Given the description of an element on the screen output the (x, y) to click on. 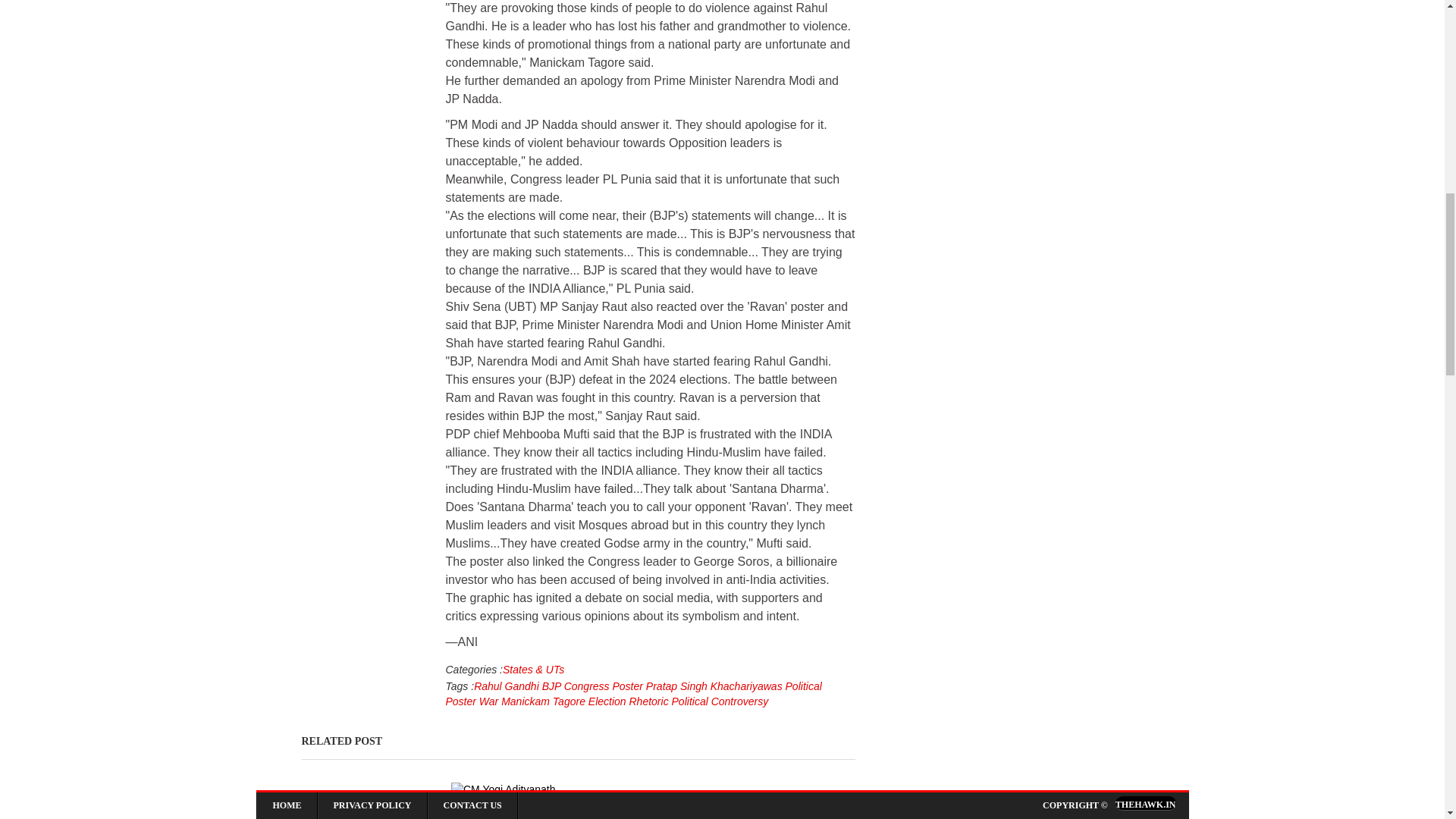
Agniveers will be given weightage in UP police and P ... (738, 805)
BJP Congress Poster (590, 686)
Political Poster War (633, 693)
Manickam Tagore (541, 701)
Rahul Gandhi (506, 686)
Political Controversy (718, 701)
Election Rhetoric (626, 701)
Pratap Singh Khachariyawas (713, 686)
